Given the description of an element on the screen output the (x, y) to click on. 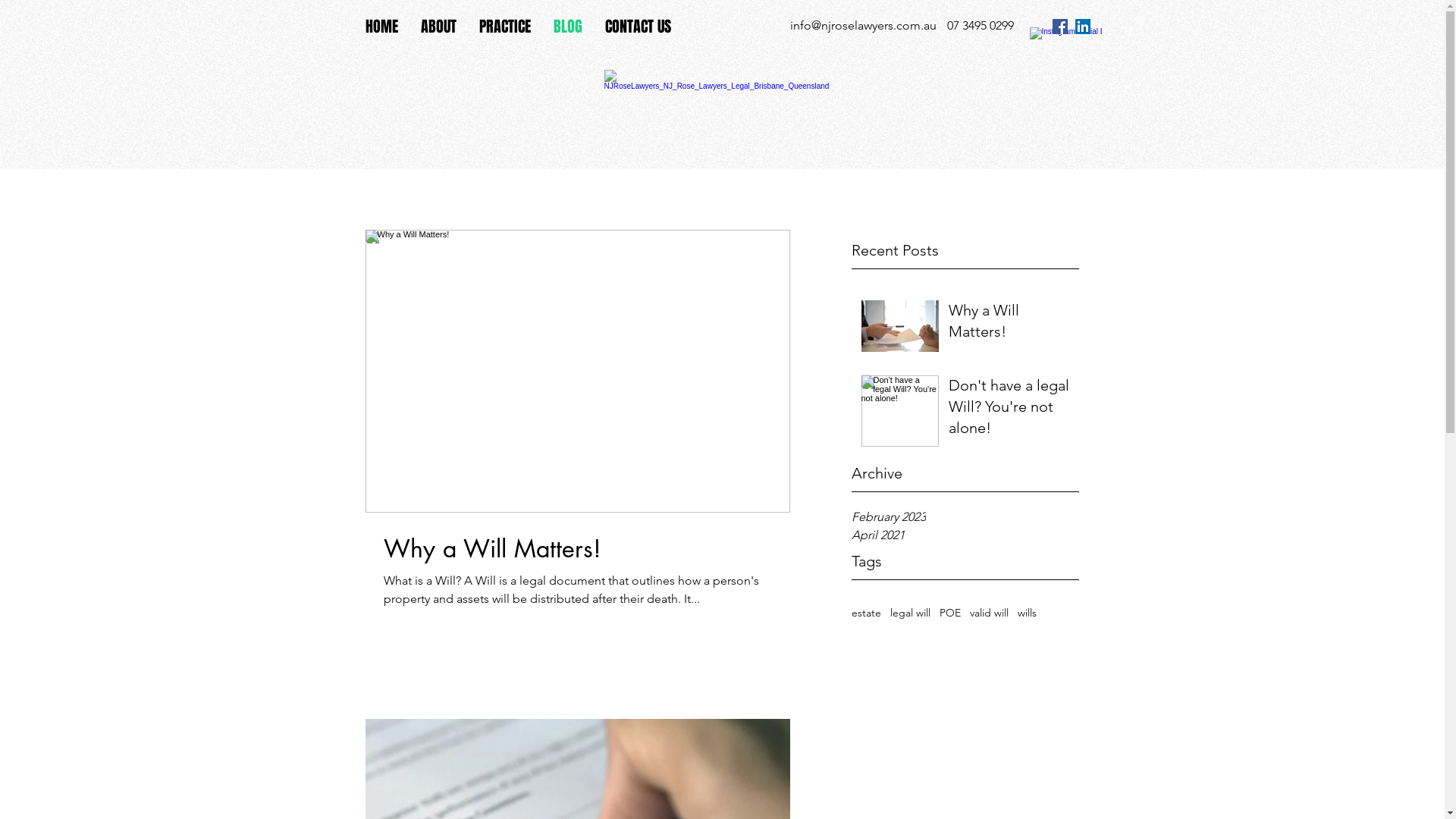
Why a Will Matters! Element type: text (577, 548)
legal will Element type: text (910, 613)
info@njroselawyers.com.au Element type: text (863, 25)
February 2023 Element type: text (964, 517)
HOME Element type: text (380, 26)
wills Element type: text (1026, 613)
Why a Will Matters! Element type: text (1008, 323)
NJ Rose Lawyers Element type: hover (720, 100)
PRACTICE Element type: text (504, 26)
POE Element type: text (949, 613)
April 2021 Element type: text (964, 535)
ABOUT Element type: text (438, 26)
CONTACT US Element type: text (637, 26)
valid will Element type: text (988, 613)
Don't have a legal Will? You're not alone! Element type: text (1008, 409)
estate Element type: text (865, 613)
BLOG Element type: text (567, 26)
